Given the description of an element on the screen output the (x, y) to click on. 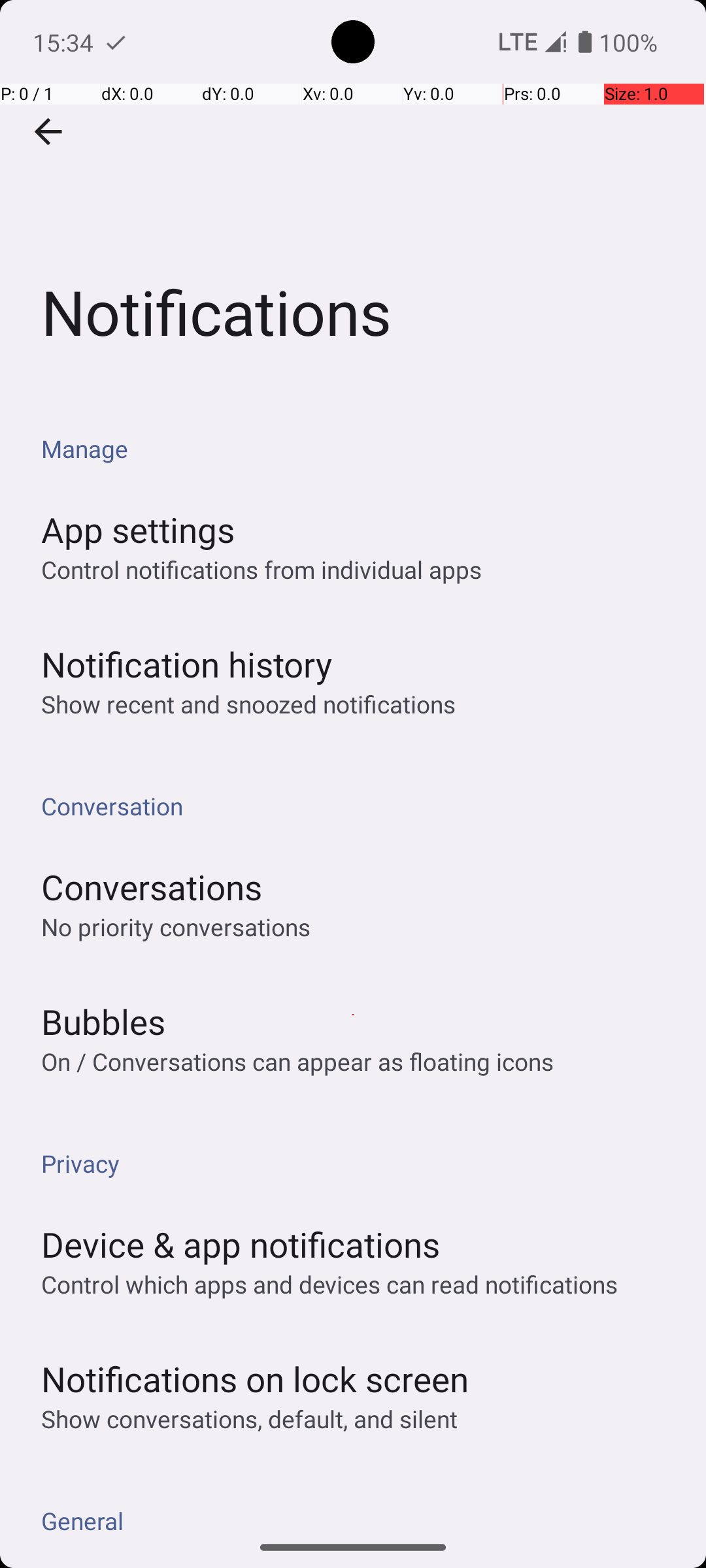
Show conversations, default, and silent Element type: android.widget.TextView (249, 1418)
